Given the description of an element on the screen output the (x, y) to click on. 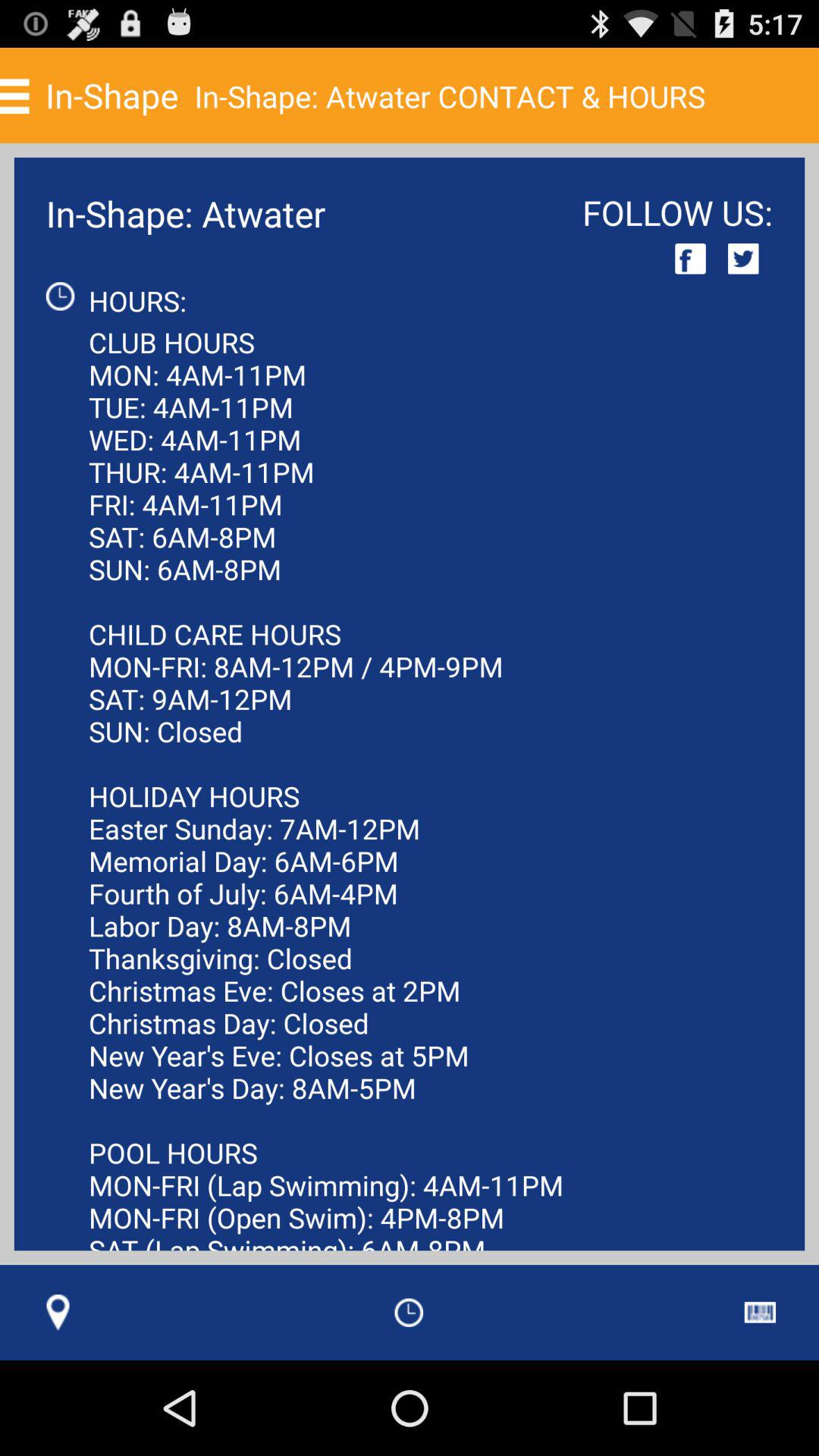
tap icon below the club hours mon app (58, 1312)
